Given the description of an element on the screen output the (x, y) to click on. 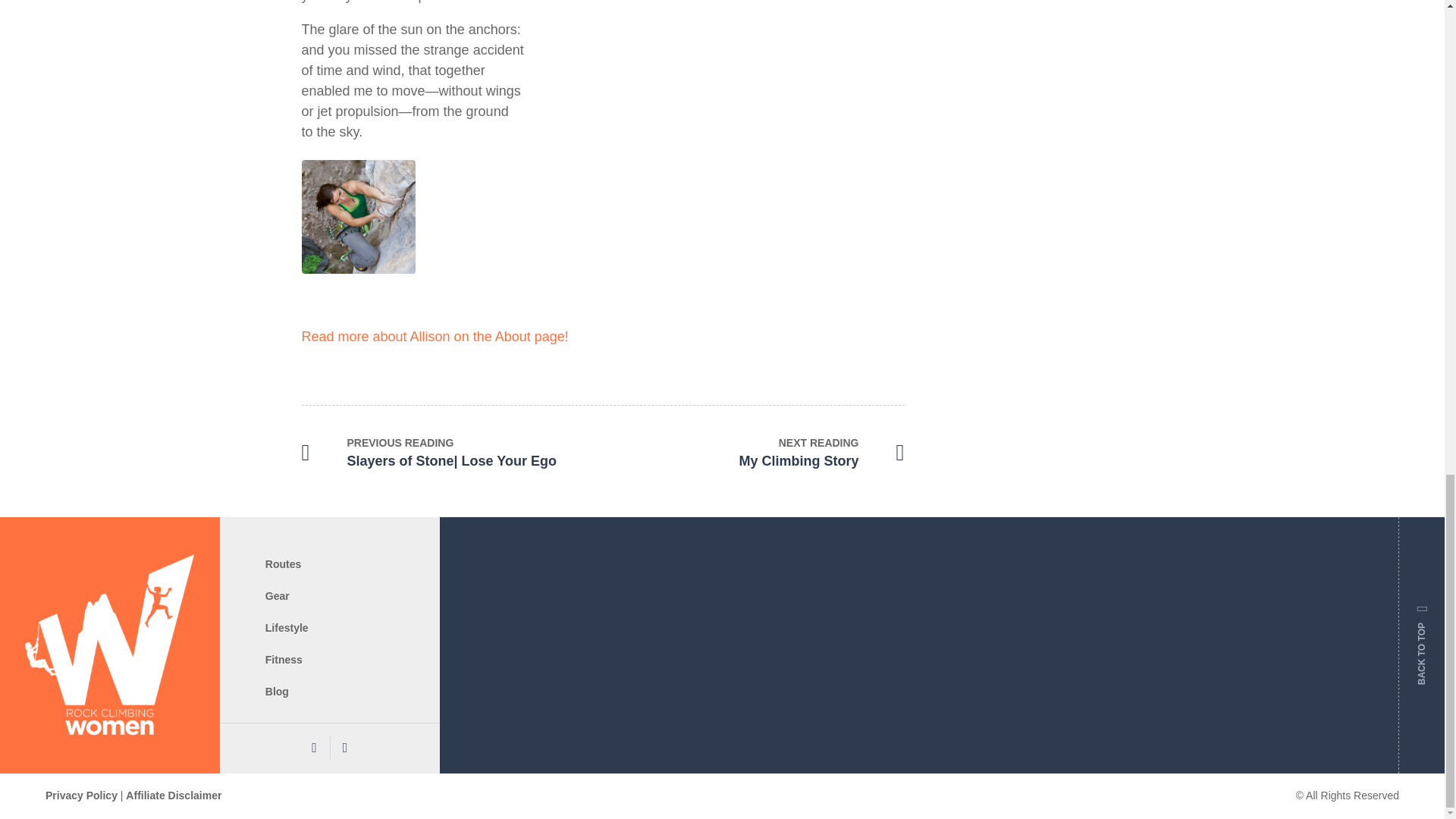
Read more about Allison on the About page! (435, 336)
Blog (276, 691)
Fitness (283, 659)
Gear (276, 595)
Lifestyle (286, 627)
Routes (753, 452)
About (282, 563)
